Given the description of an element on the screen output the (x, y) to click on. 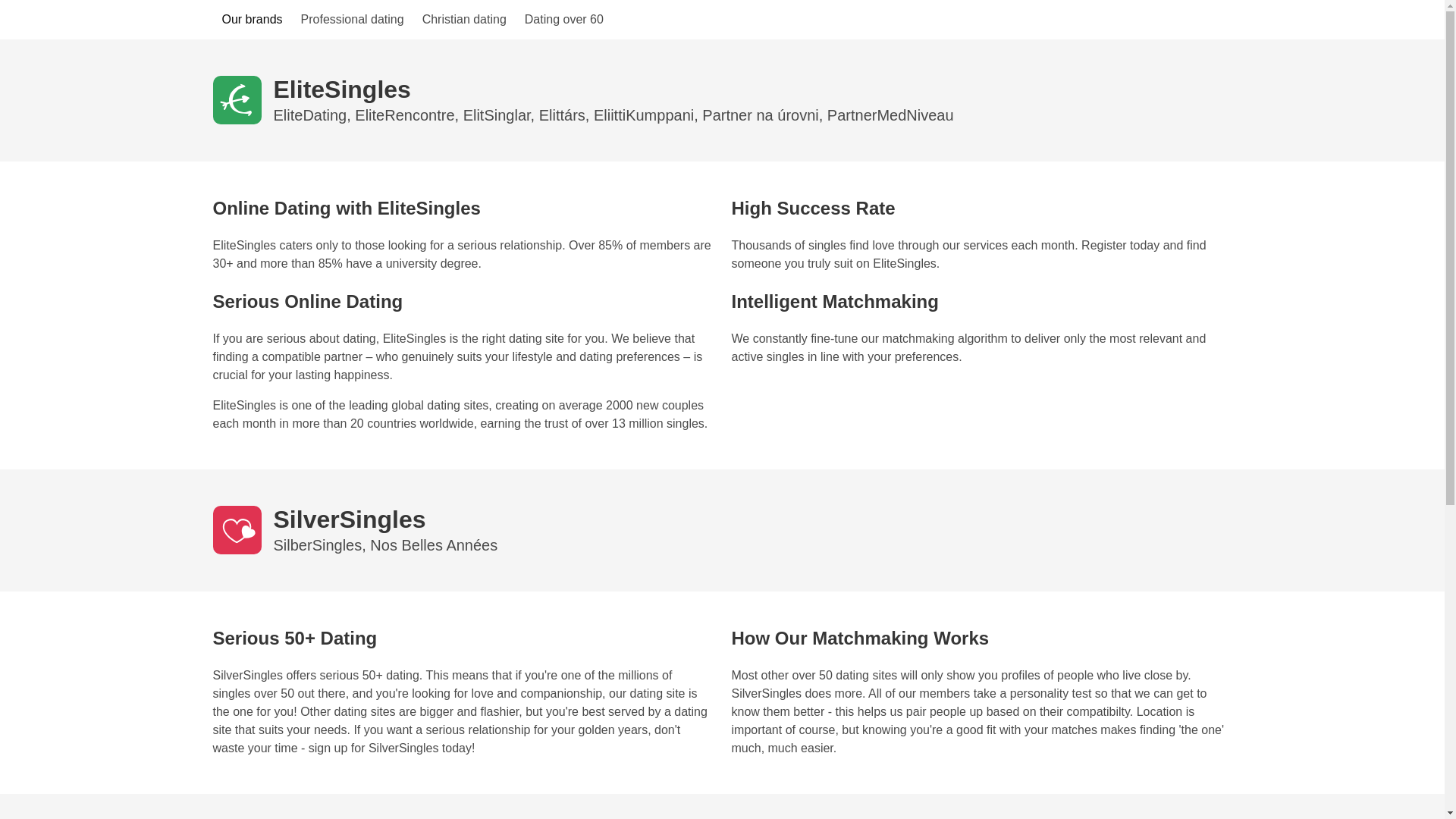
Professional dating (352, 19)
Dating over 60 (563, 19)
Christian dating (464, 19)
Our brands (251, 19)
